Given the description of an element on the screen output the (x, y) to click on. 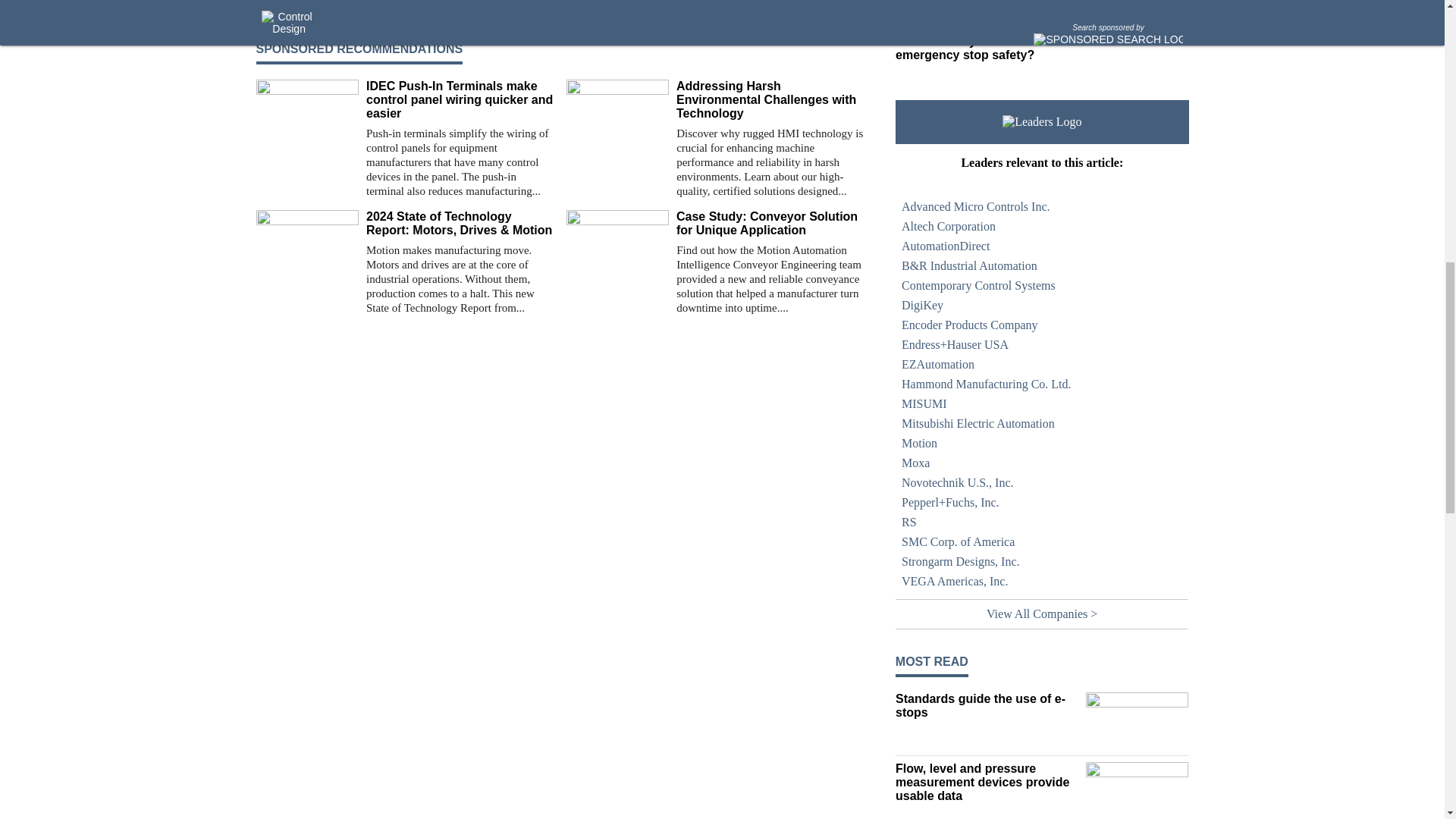
Altech Corporation (1042, 226)
Home (986, 25)
Festo (908, 2)
Push-in terminal block technology dominates (405, 9)
Advanced Micro Controls Inc. (1042, 207)
How well do you know emergency stop safety? (986, 48)
Contemporary Control Systems (1042, 285)
Case Study: Conveyor Solution for Unique Application (770, 223)
The Lead to Linear Speed (715, 9)
